Given the description of an element on the screen output the (x, y) to click on. 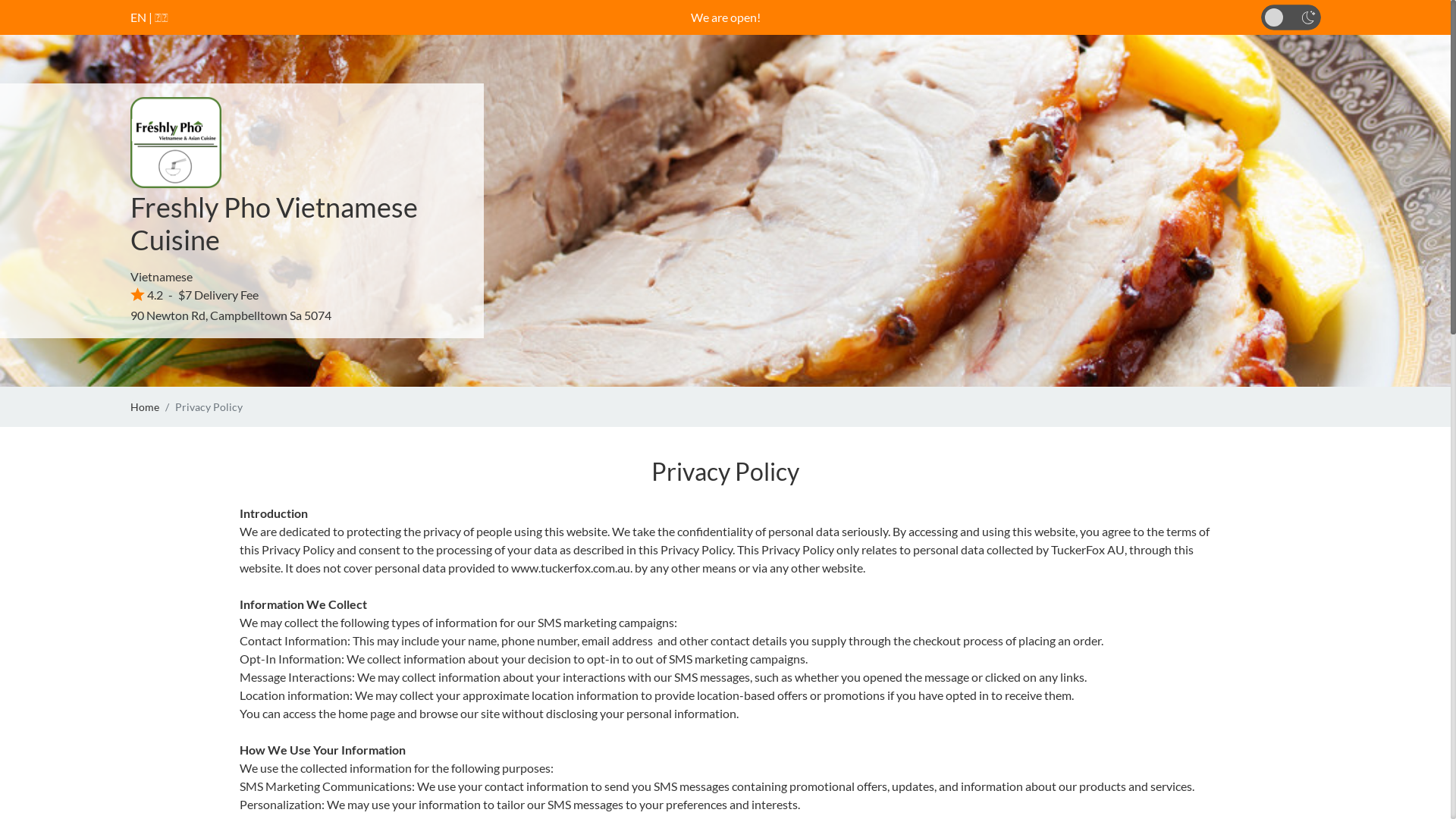
Home Element type: text (144, 406)
EN Element type: text (138, 16)
4.2 Element type: text (146, 294)
Freshly Pho Vietnamese Cuisine Element type: text (273, 223)
